Given the description of an element on the screen output the (x, y) to click on. 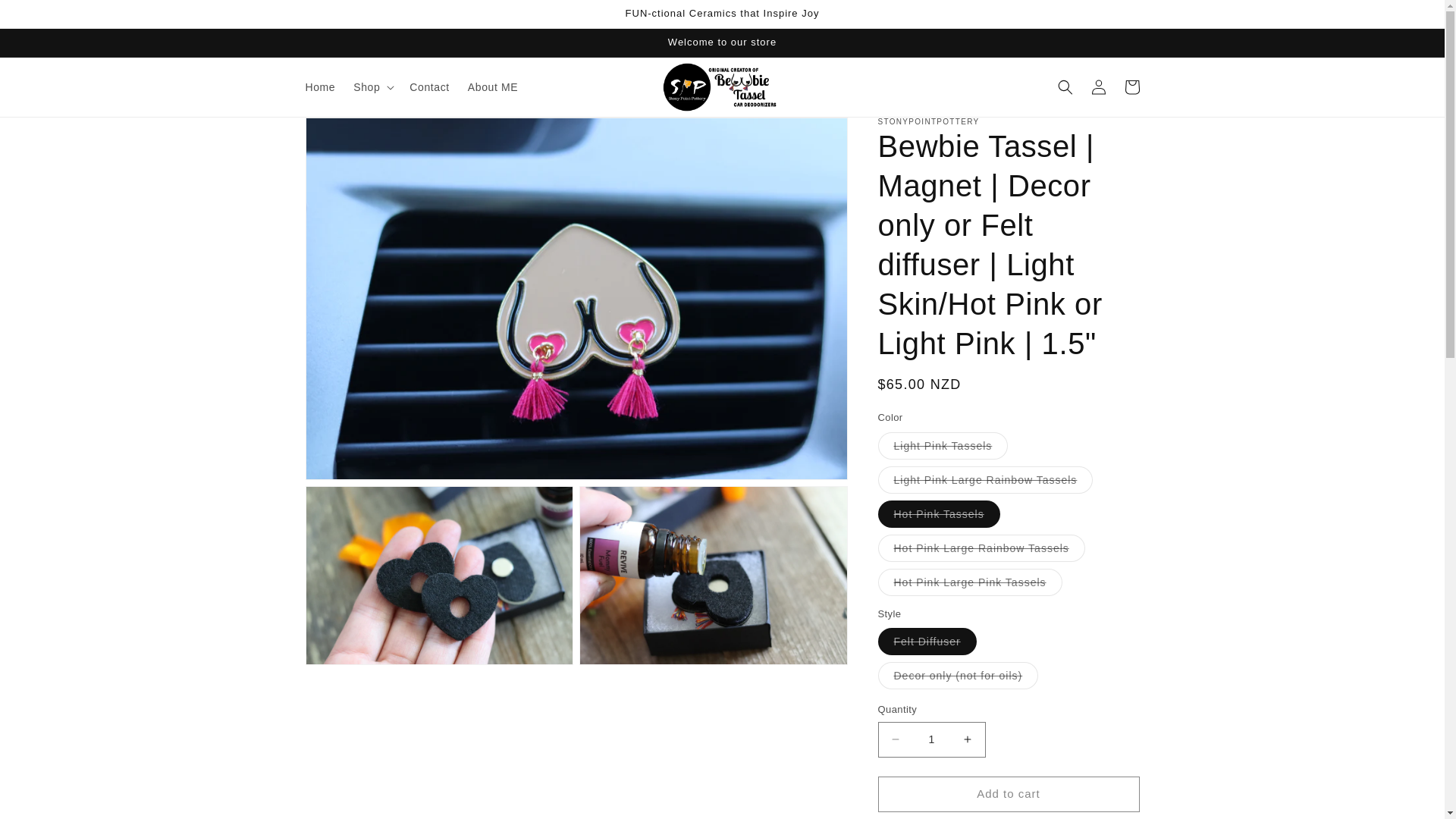
1 (931, 739)
Skip to content (45, 17)
Log in (1098, 87)
About ME (492, 87)
Contact (429, 87)
Cart (1131, 87)
Home (319, 87)
